Given the description of an element on the screen output the (x, y) to click on. 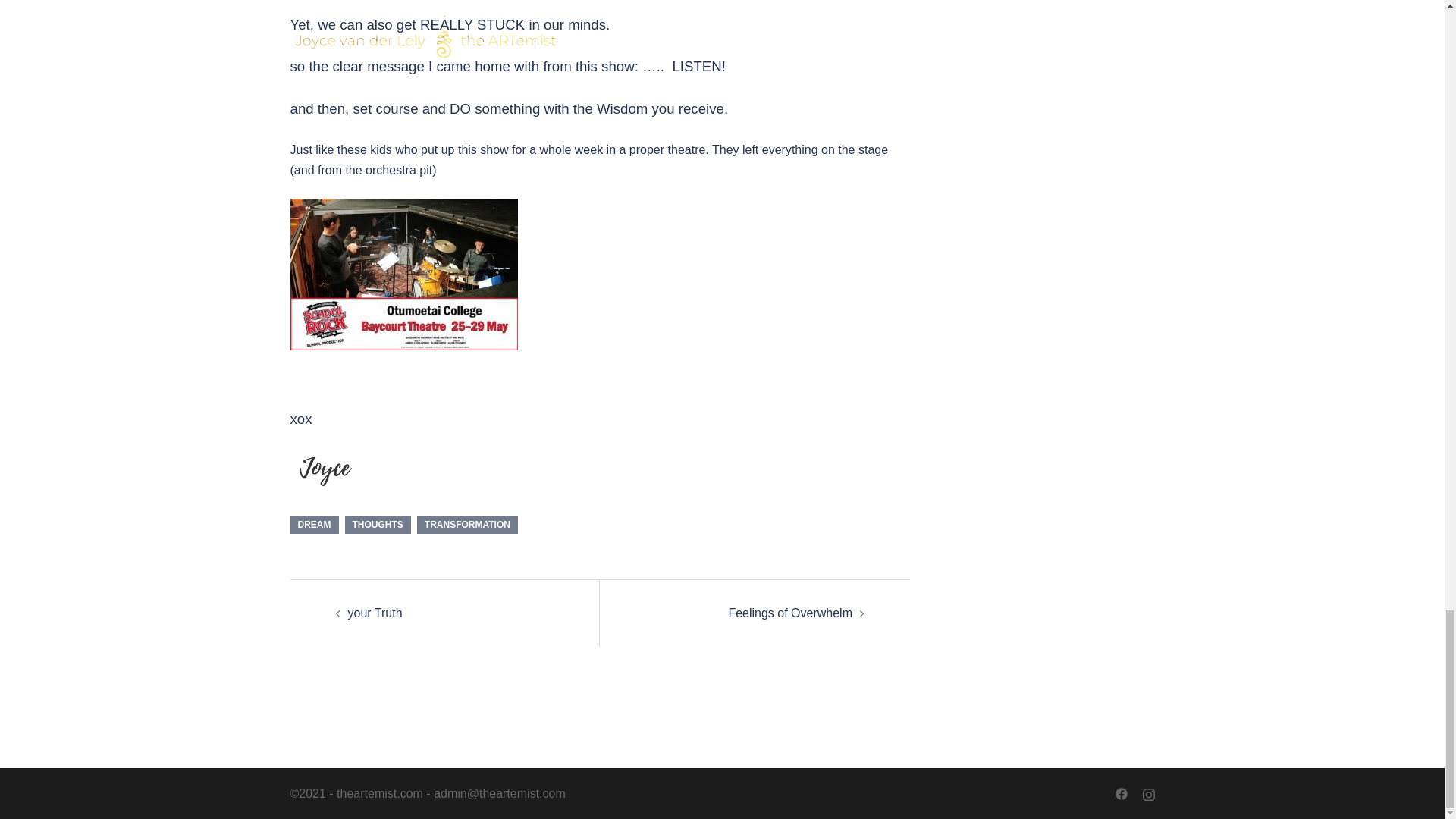
TRANSFORMATION (467, 524)
DREAM (313, 524)
your Truth (374, 612)
THOUGHTS (376, 524)
Feelings of Overwhelm (789, 612)
